Given the description of an element on the screen output the (x, y) to click on. 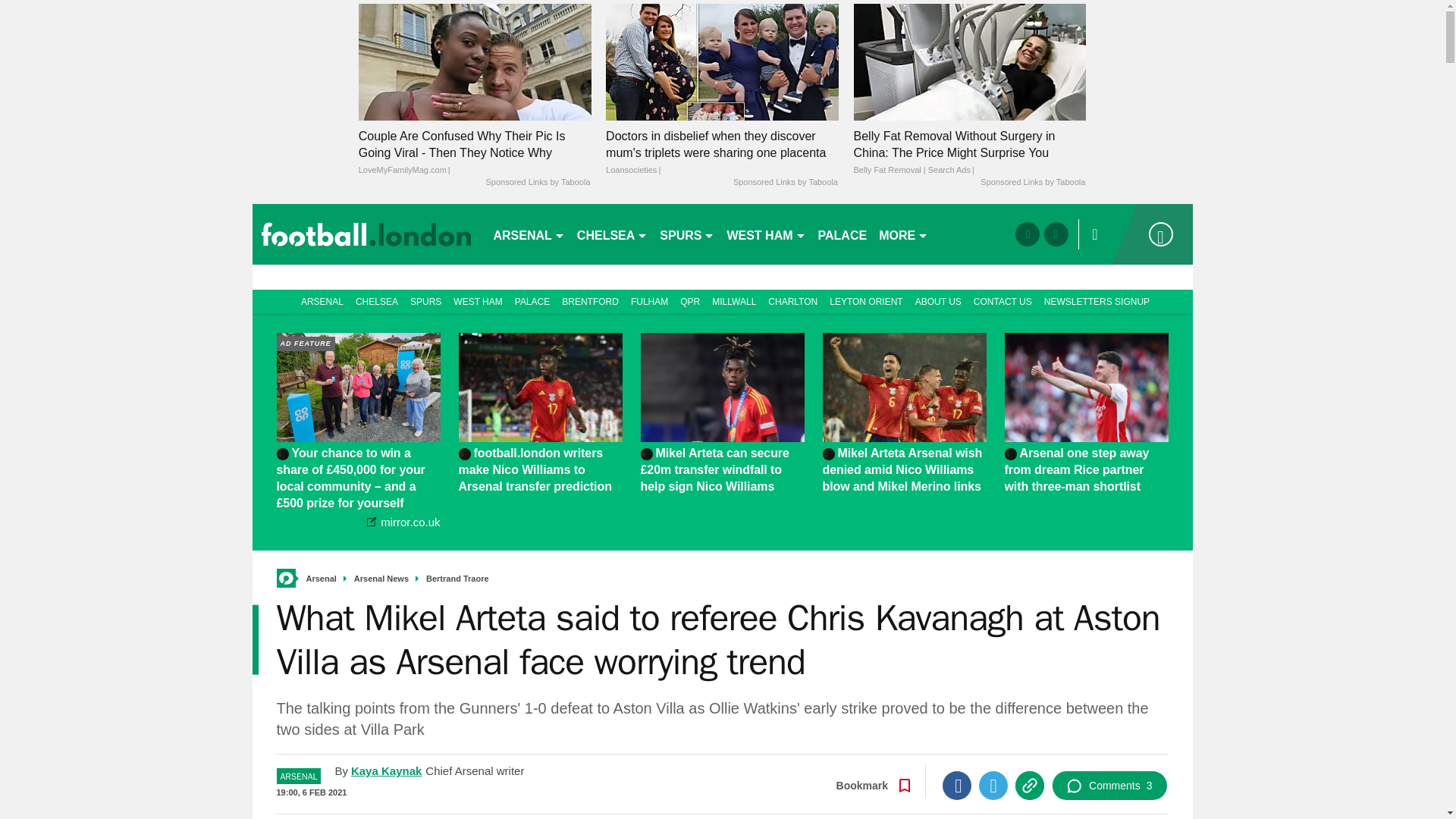
Twitter (992, 785)
Facebook (956, 785)
Sponsored Links by Taboola (1031, 182)
ARSENAL (528, 233)
WEST HAM (765, 233)
footballlondon (365, 233)
Sponsored Links by Taboola (536, 182)
twitter (1055, 233)
Comments (1108, 785)
SPURS (686, 233)
facebook (1026, 233)
CHELSEA (611, 233)
Sponsored Links by Taboola (785, 182)
